Given the description of an element on the screen output the (x, y) to click on. 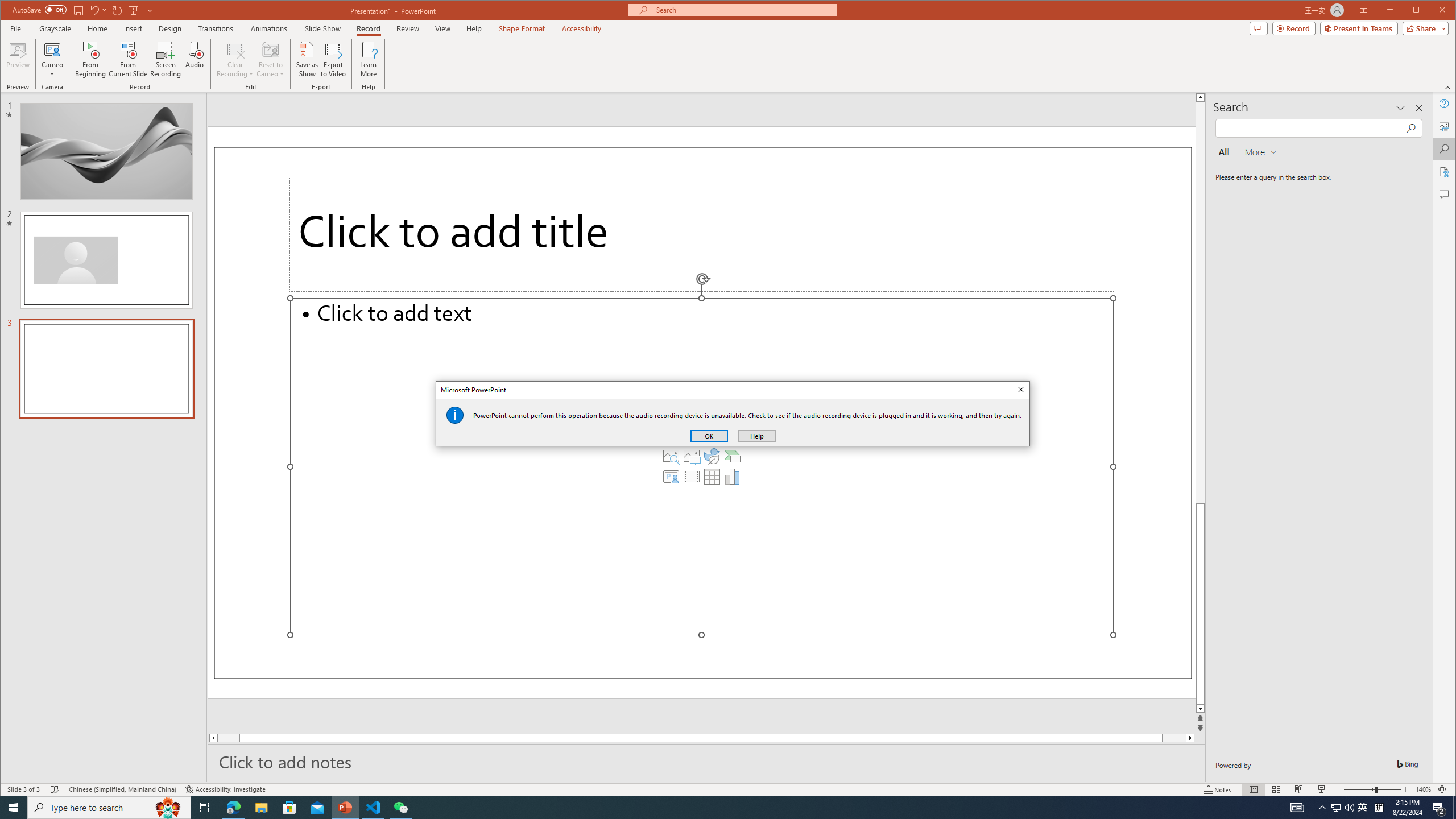
Action Center, 2 new notifications (1439, 807)
Grayscale (55, 28)
WeChat - 1 running window (400, 807)
